Given the description of an element on the screen output the (x, y) to click on. 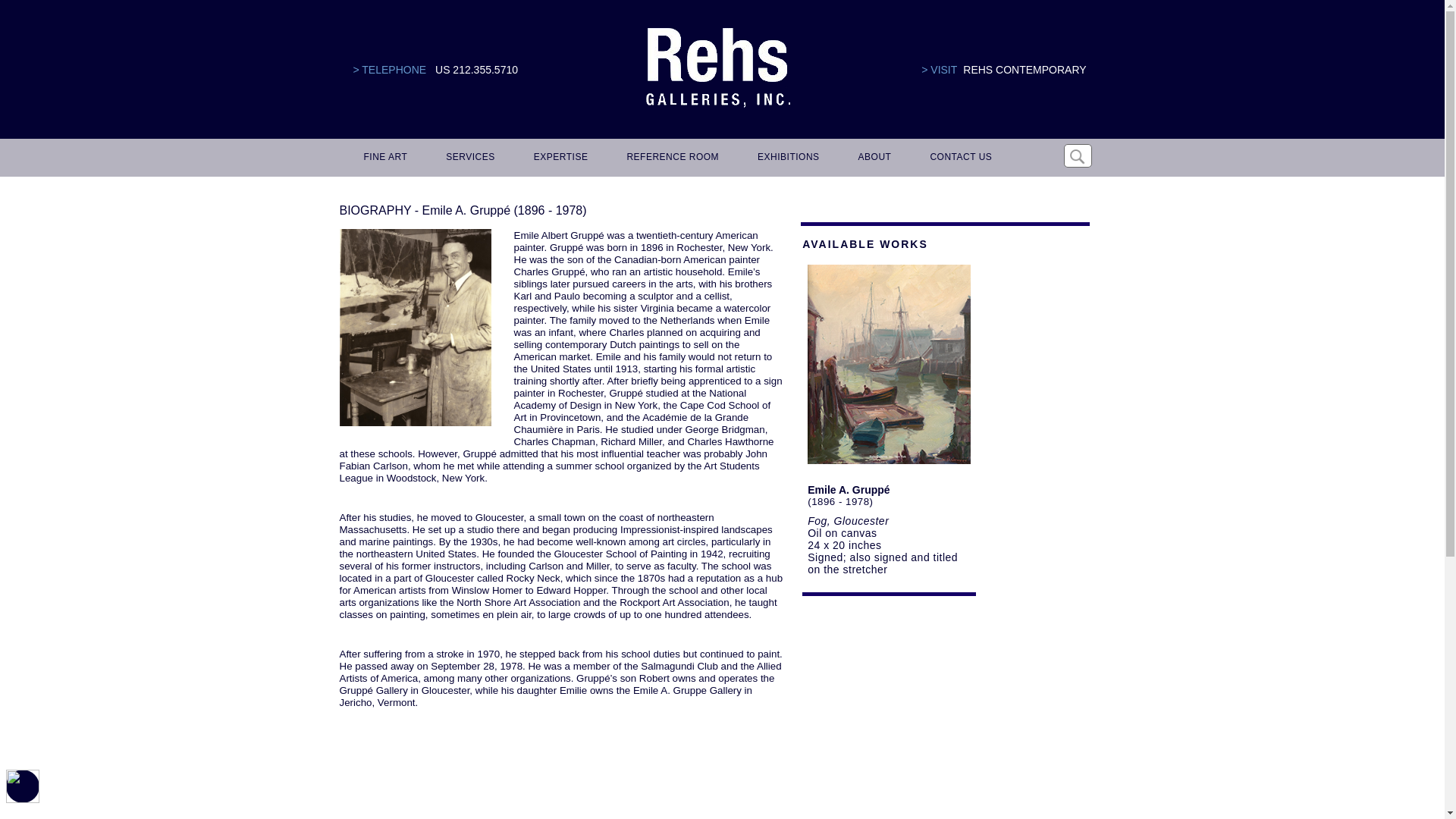
REHS CONTEMPORARY (1024, 69)
EXPERTISE (558, 157)
EXHIBITIONS (785, 157)
ABOUT (872, 157)
SERVICES (467, 157)
FINE ART (383, 157)
Logo (717, 67)
CONTACT US (957, 157)
Fog, Gloucester (848, 521)
REFERENCE ROOM (670, 157)
